Given the description of an element on the screen output the (x, y) to click on. 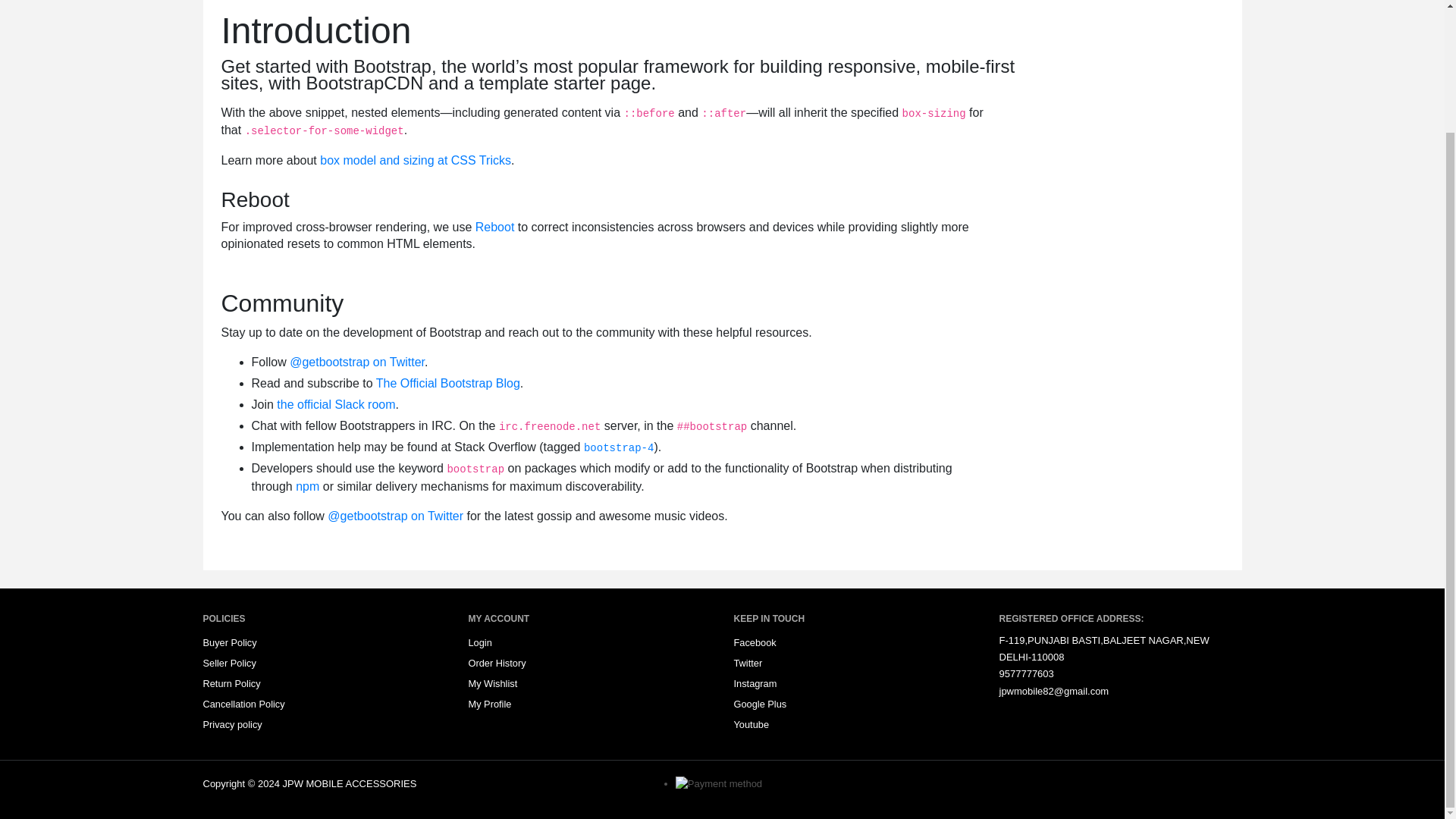
Payment method (718, 783)
Login (480, 642)
My Wishlist (493, 683)
Order History (496, 662)
